Given the description of an element on the screen output the (x, y) to click on. 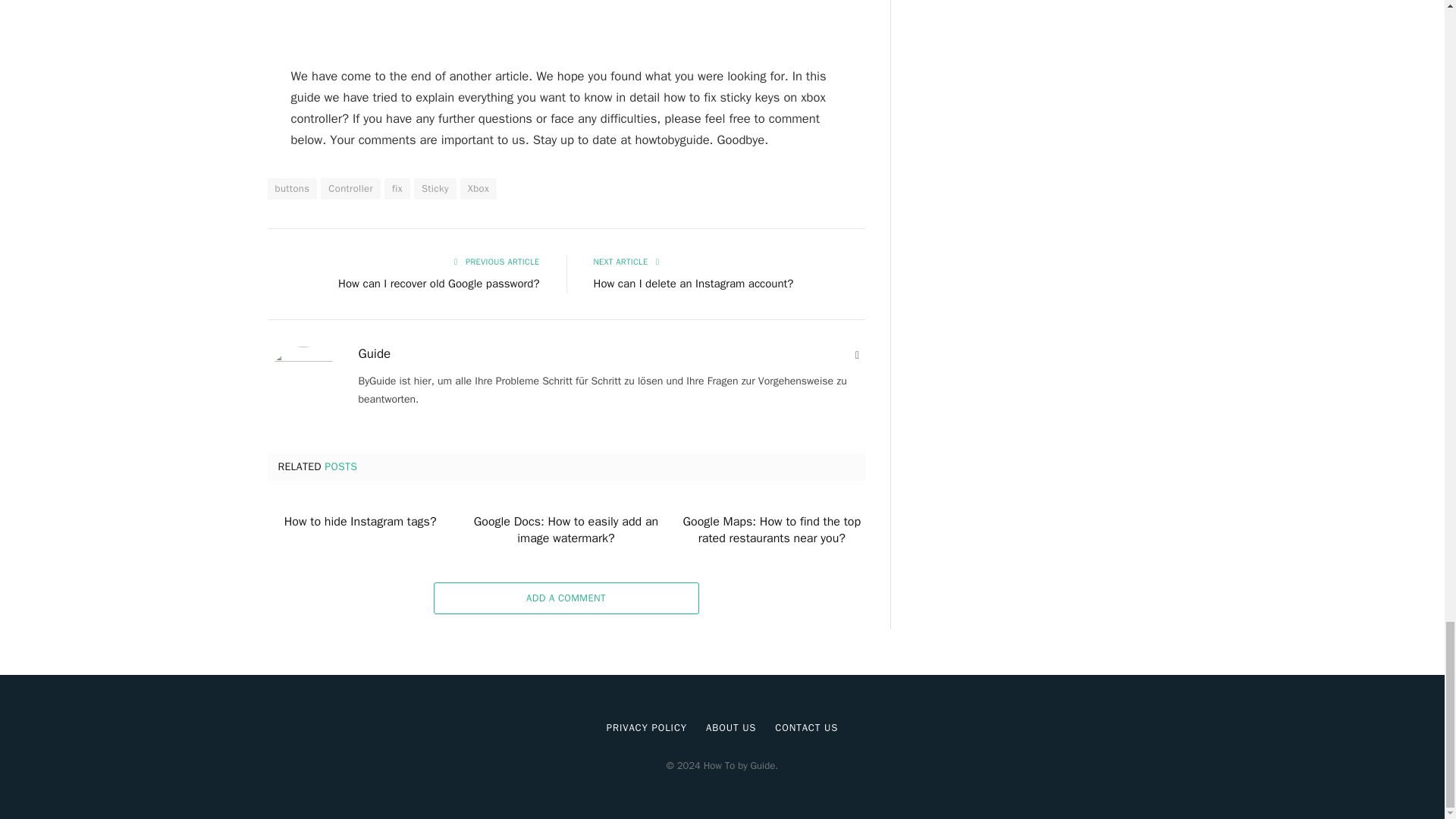
Posts by Guide (374, 353)
fix (397, 188)
Controller (350, 188)
buttons (291, 188)
Website (856, 355)
Sticky (435, 188)
